Given the description of an element on the screen output the (x, y) to click on. 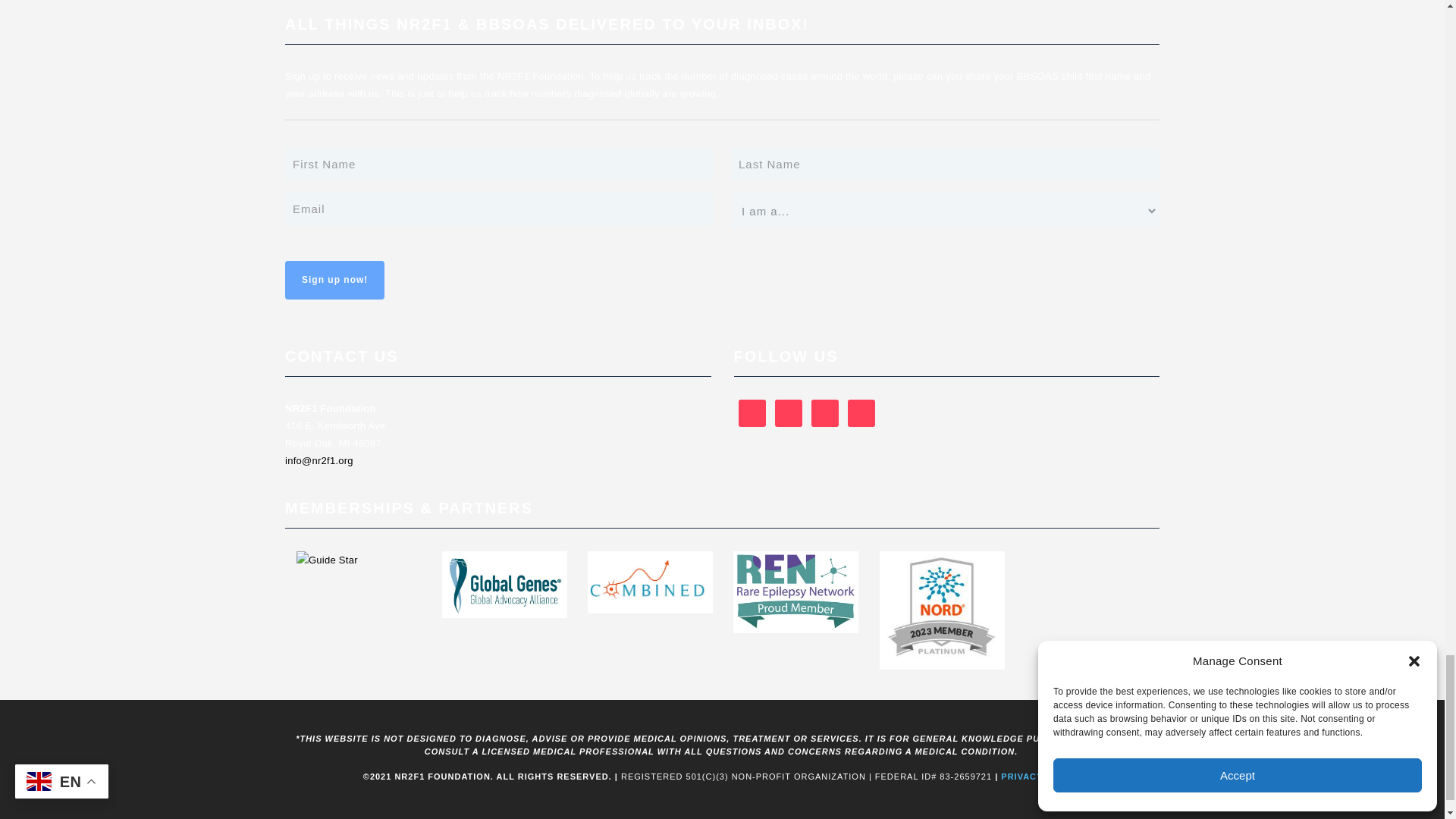
Sign up now! (334, 280)
